Given the description of an element on the screen output the (x, y) to click on. 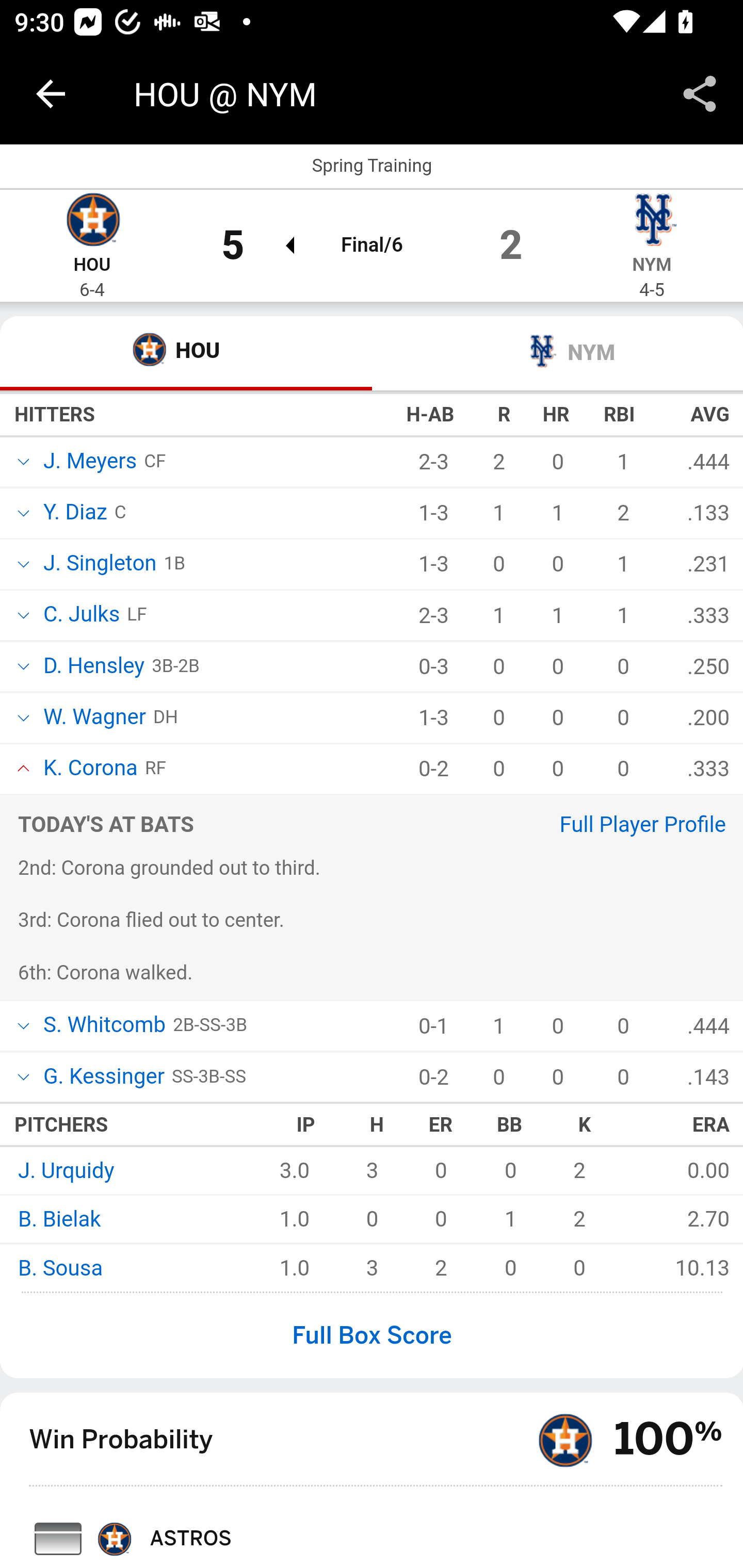
Navigate up (50, 93)
Share (699, 93)
Houston Astros (91, 223)
New York Mets (651, 223)
HOU (92, 266)
NYM (652, 266)
HOU (186, 355)
NYM (557, 355)
J. Meyers CF J. Meyers J. Meyers CF 2-3 2 0 1 .444 (371, 463)
J. Meyers (88, 462)
Y. Diaz C Y. Diaz Y. Diaz C 1-3 1 1 2 .133 (371, 513)
Y. Diaz (73, 513)
J. Singleton (97, 565)
C. Julks LF C. Julks C. Julks LF 2-3 1 1 1 .333 (371, 616)
C. Julks (79, 616)
D. Hensley (92, 667)
W. Wagner DH W. Wagner W. Wagner DH 1-3 0 0 0 .200 (371, 718)
W. Wagner (92, 719)
K. Corona RF K. Corona K. Corona RF 0-2 0 0 0 .333 (371, 770)
K. Corona (88, 770)
Full Player Profile (642, 827)
S. Whitcomb (103, 1026)
G. Kessinger (102, 1078)
J. Urquidy J. Urquidy J. Urquidy 3.0 3 0 0 2 0.00 (371, 1171)
J. Urquidy (64, 1173)
B. Bielak B. Bielak B. Bielak 1.0 0 0 1 2 2.70 (371, 1219)
B. Bielak (58, 1222)
B. Sousa B. Sousa B. Sousa 1.0 3 2 0 0 10.13 (371, 1268)
B. Sousa (59, 1270)
Full Box Score (371, 1337)
Houston Astros (563, 1440)
